Given the description of an element on the screen output the (x, y) to click on. 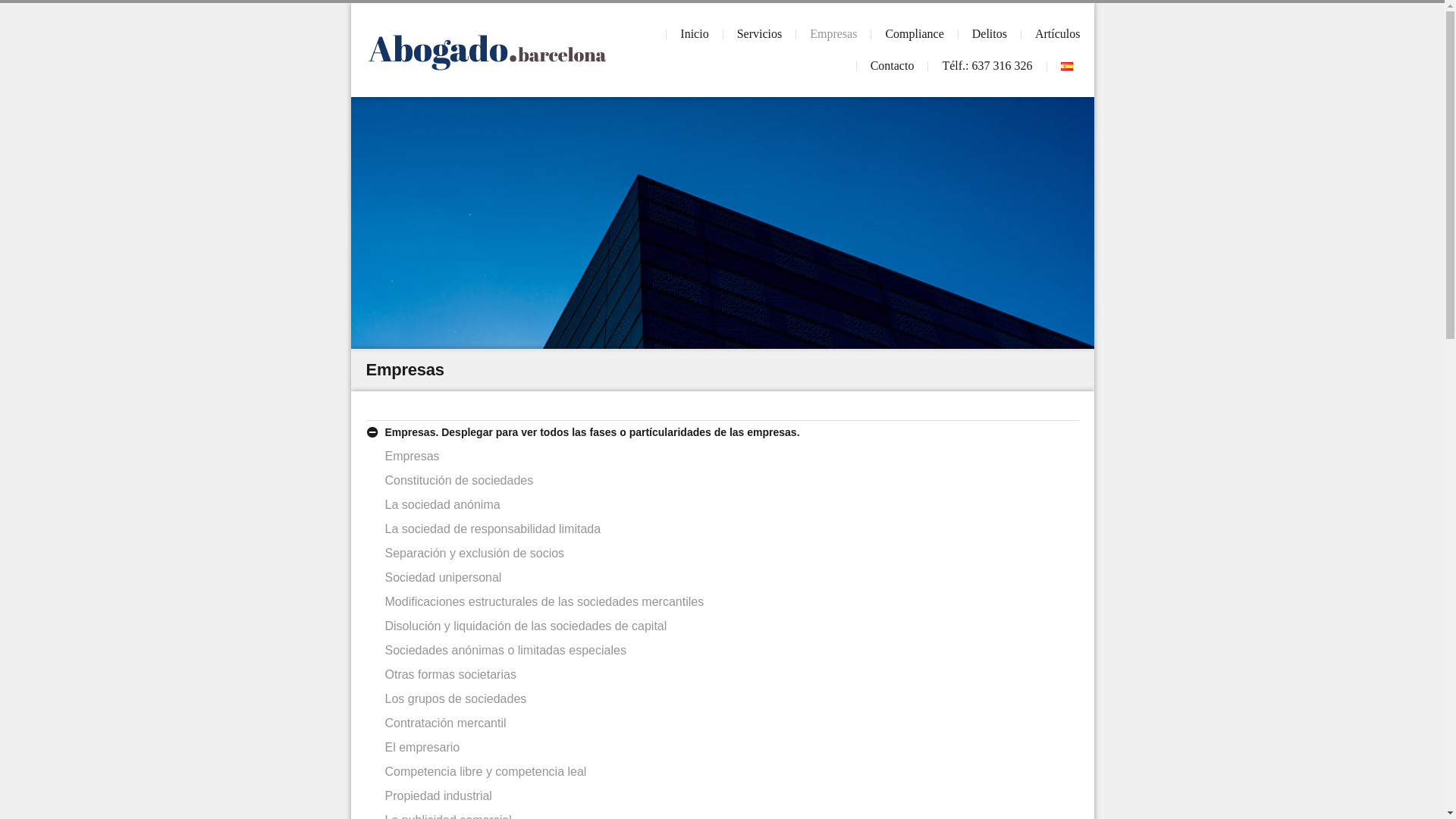
Propiedad industrial Element type: text (438, 795)
Otras formas societarias Element type: text (450, 674)
Inicio Element type: text (694, 33)
Servicios Element type: text (759, 33)
Contacto Element type: text (892, 65)
Delitos Element type: text (989, 33)
abogado.barcelona Element type: hover (486, 49)
Competencia libre y competencia leal Element type: text (485, 771)
Empresas Element type: text (832, 33)
Sociedad unipersonal Element type: text (443, 577)
Modificaciones estructurales de las sociedades mercantiles Element type: text (544, 601)
El empresario Element type: text (422, 746)
Empresas Element type: text (412, 455)
La sociedad de responsabilidad limitada Element type: text (493, 528)
Compliance Element type: text (913, 33)
Los grupos de sociedades Element type: text (456, 698)
